Given the description of an element on the screen output the (x, y) to click on. 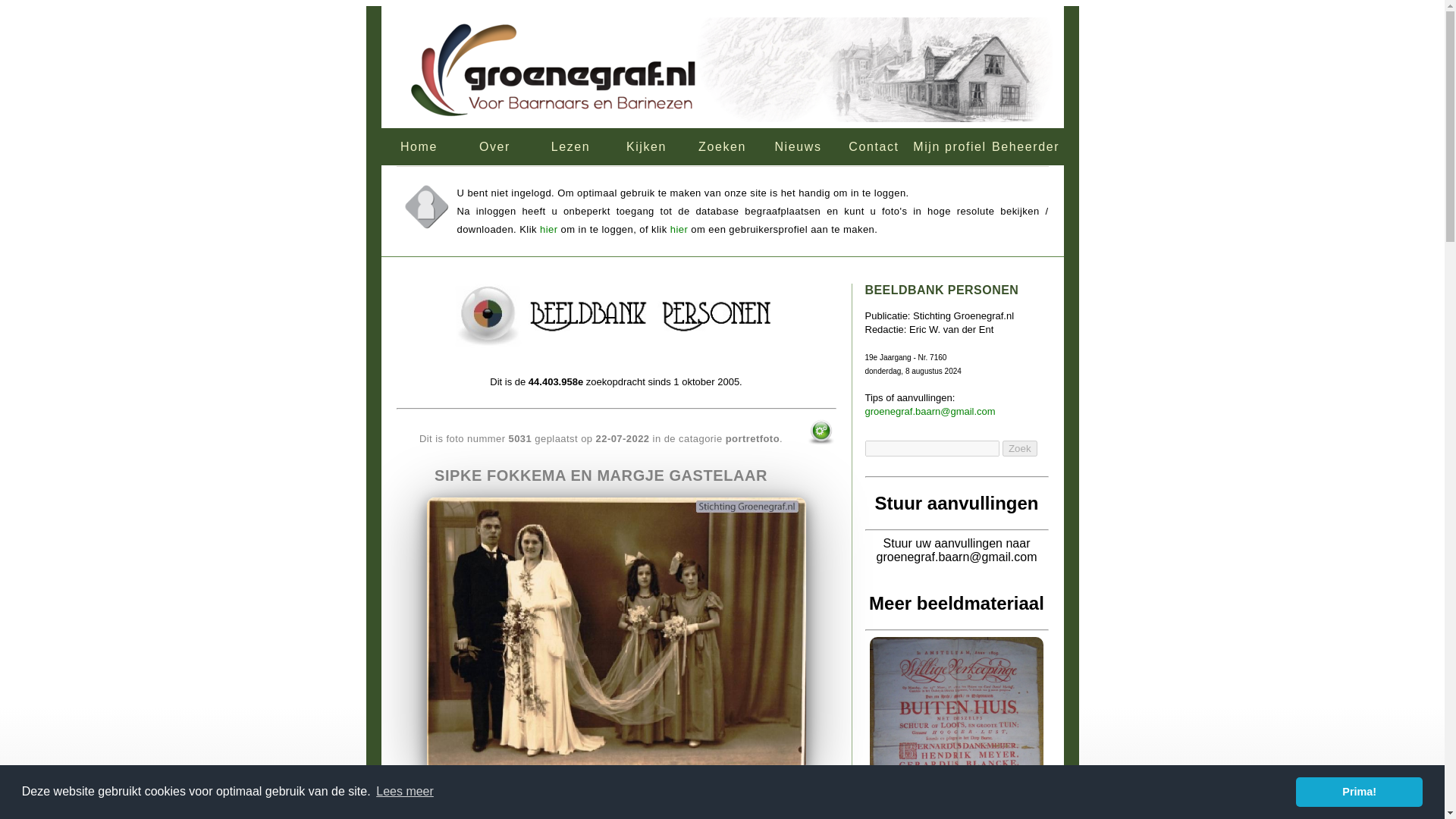
Home (418, 146)
Prima! (1358, 791)
Lezen (570, 146)
Zoek (1019, 448)
Zoeken (722, 146)
Beheerder (1024, 146)
klik hier om uw profielfoto te wijzigen (425, 207)
hier (548, 229)
Lees meer (404, 791)
Mijn profiel (949, 146)
Over (494, 146)
Nieuws (797, 146)
Contact (873, 146)
Kijken (646, 146)
